Given the description of an element on the screen output the (x, y) to click on. 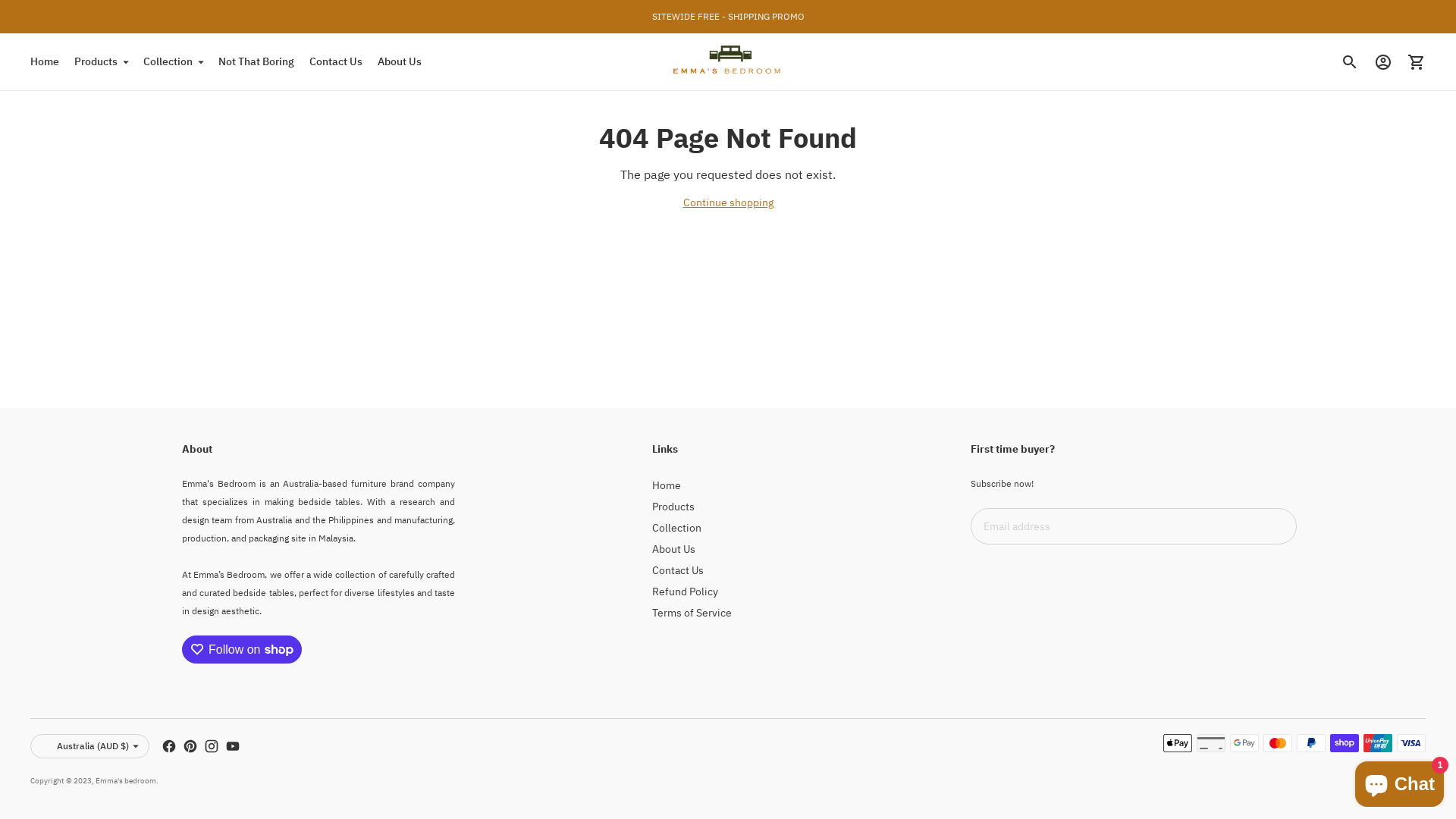
Products Element type: text (101, 61)
About Us Element type: text (399, 61)
Collection Element type: text (676, 527)
Cart Element type: hover (1416, 61)
Terms of Service Element type: text (691, 612)
Shopify online store chat Element type: hover (1399, 780)
Continue shopping Element type: text (727, 202)
Emma's bedroom on Pinterest Element type: hover (189, 745)
Products Element type: text (673, 506)
Emma's bedroom Element type: text (125, 780)
Contact Us Element type: text (677, 570)
Home Element type: text (666, 485)
Account Element type: hover (1382, 61)
Collection Element type: text (173, 61)
Emma's bedroom on Facebook Element type: hover (168, 745)
Not That Boring Element type: text (256, 61)
Home Element type: text (44, 61)
Australia (AUD $) Element type: text (89, 746)
Emma's bedroom on Instagram Element type: hover (211, 745)
Refund Policy Element type: text (685, 591)
Emma's bedroom on YouTube Element type: hover (232, 745)
Contact Us Element type: text (335, 61)
About Us Element type: text (673, 548)
Search Element type: hover (1349, 61)
